Given the description of an element on the screen output the (x, y) to click on. 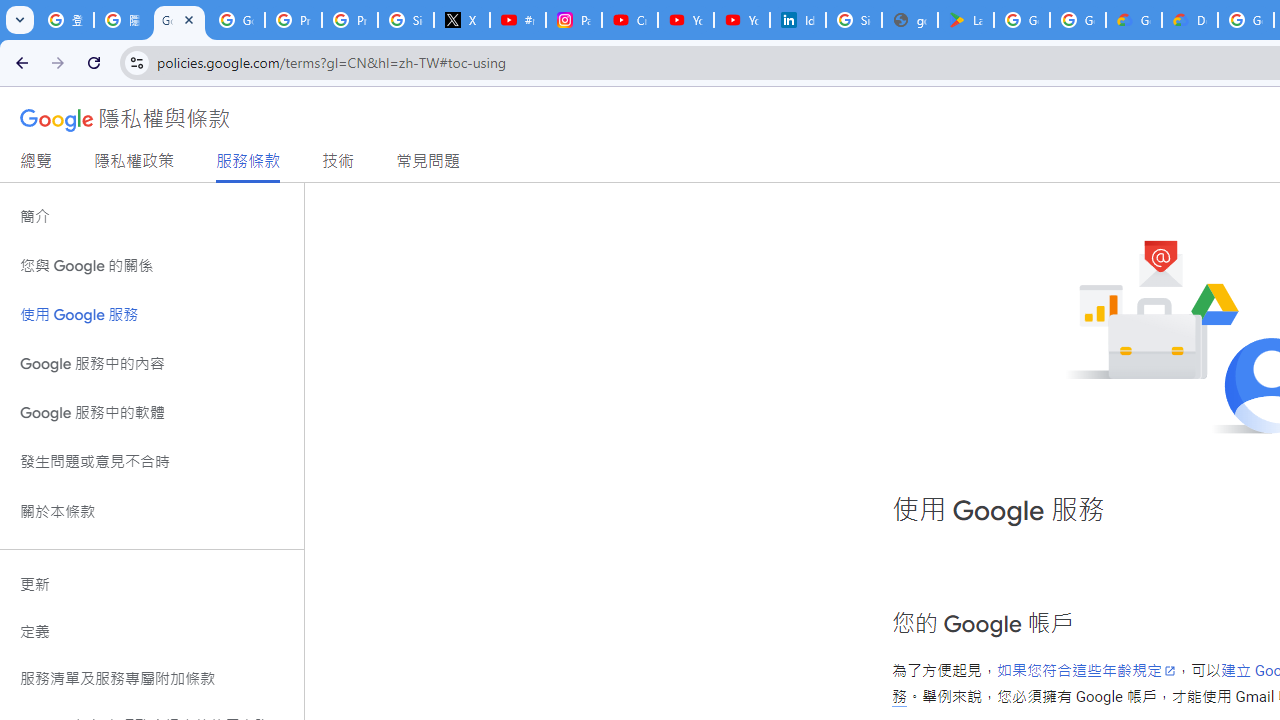
YouTube Culture & Trends - YouTube Top 10, 2021 (742, 20)
